Given the description of an element on the screen output the (x, y) to click on. 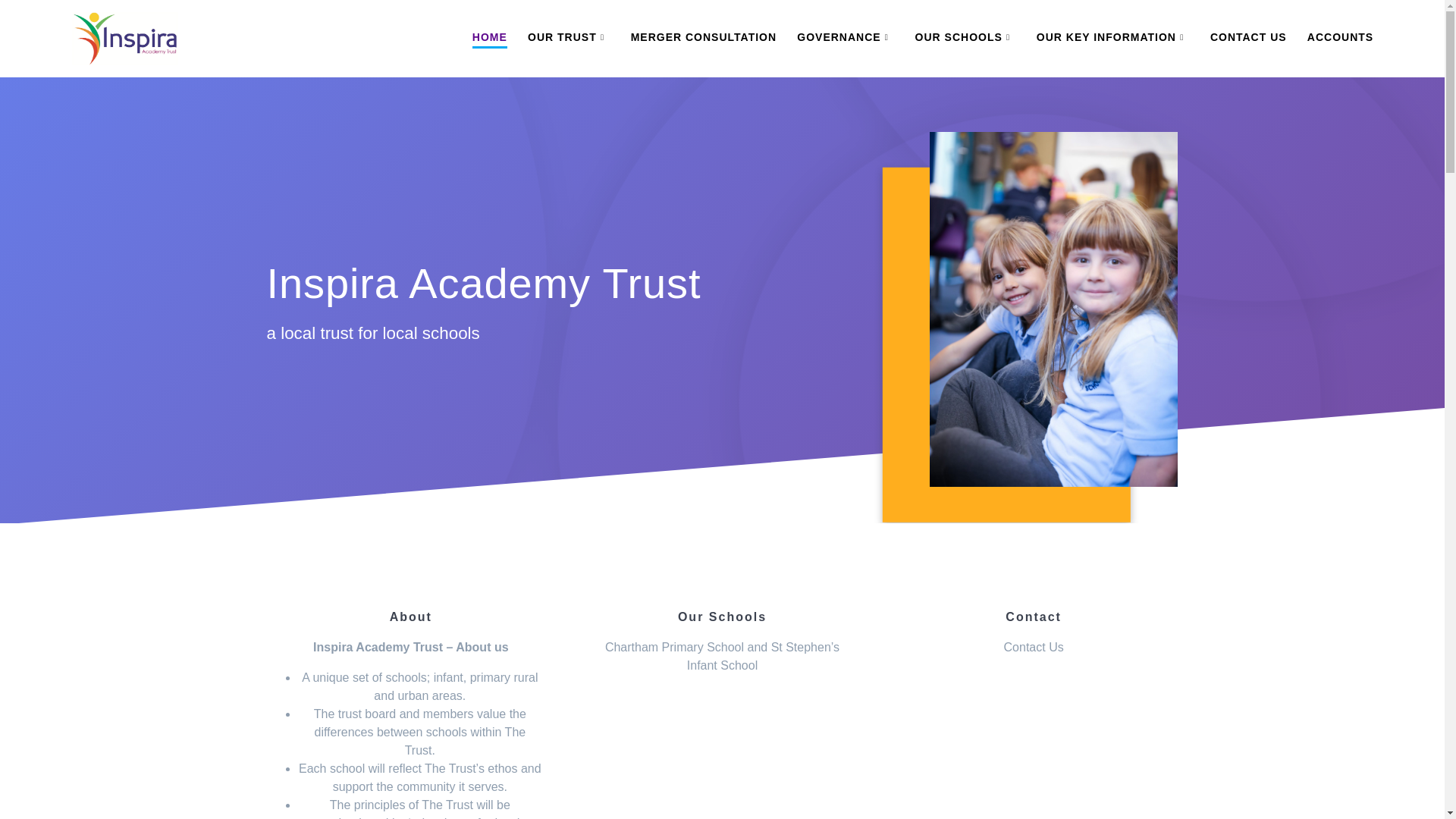
OUR KEY INFORMATION (1112, 37)
ACCOUNTS (1340, 37)
HOME (488, 37)
MERGER CONSULTATION (703, 37)
OUR TRUST (568, 37)
GOVERNANCE (844, 37)
CONTACT US (1248, 37)
OUR SCHOOLS (965, 37)
